Given the description of an element on the screen output the (x, y) to click on. 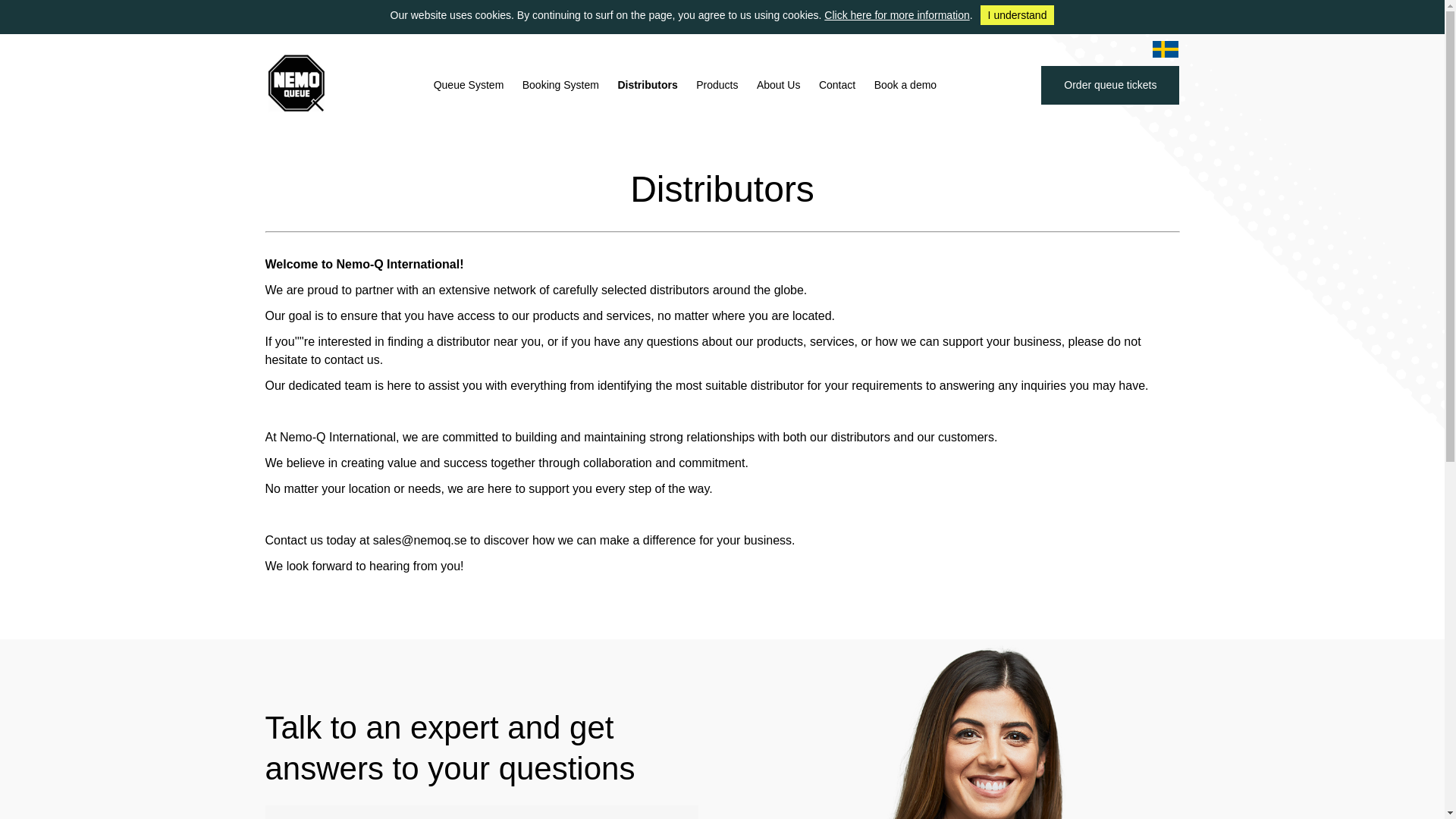
Distributors (647, 84)
Book a demo (905, 84)
Contact (836, 84)
Click here for more information (896, 15)
About Us (778, 84)
Queue System (469, 84)
Order queue tickets (1110, 84)
Booking System (561, 84)
Products (716, 84)
